Given the description of an element on the screen output the (x, y) to click on. 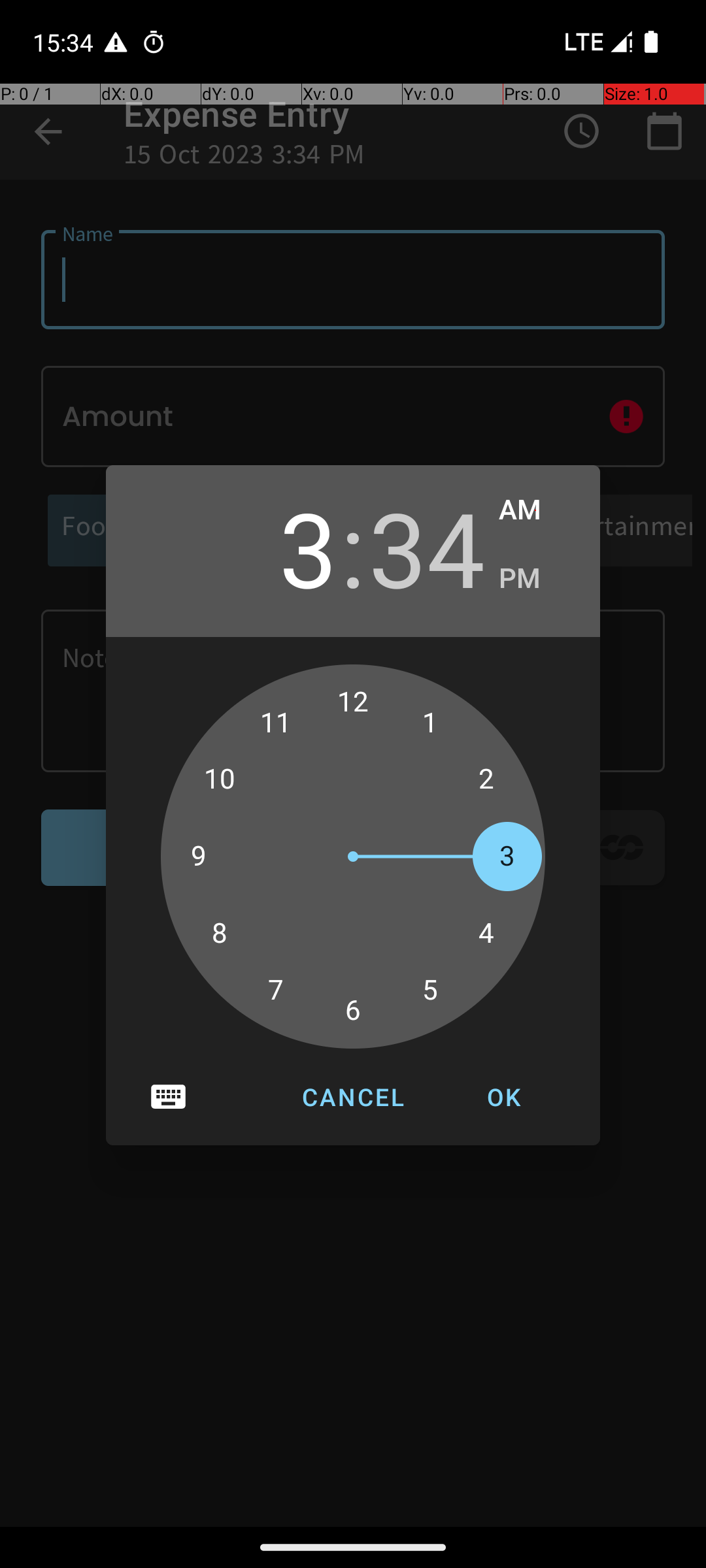
34 Element type: android.widget.TextView (426, 547)
